Given the description of an element on the screen output the (x, y) to click on. 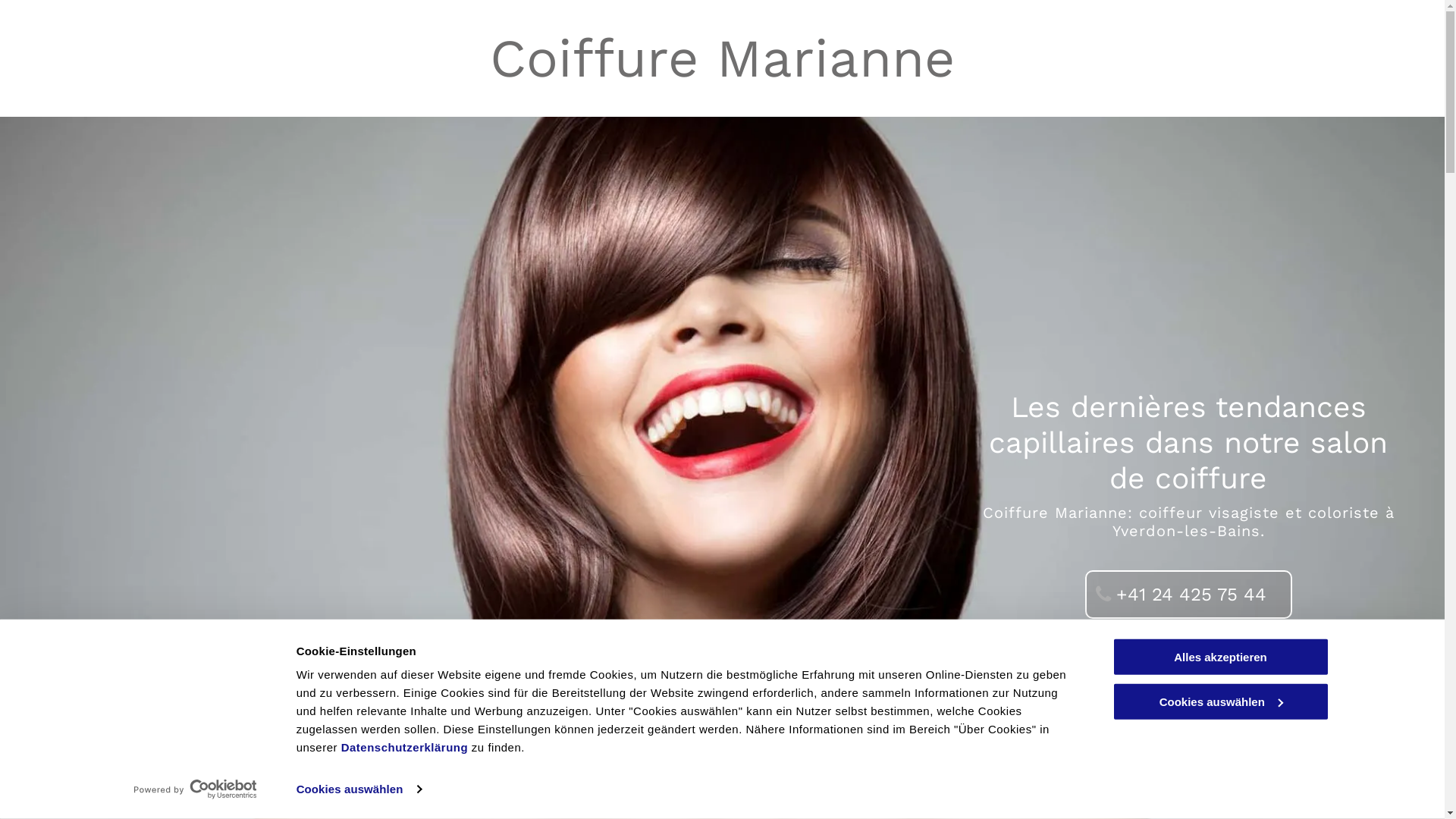
Alles akzeptieren Element type: text (1219, 656)
+41 24 425 75 44 Element type: text (1188, 594)
Coiffure Marianne Element type: text (721, 58)
